Given the description of an element on the screen output the (x, y) to click on. 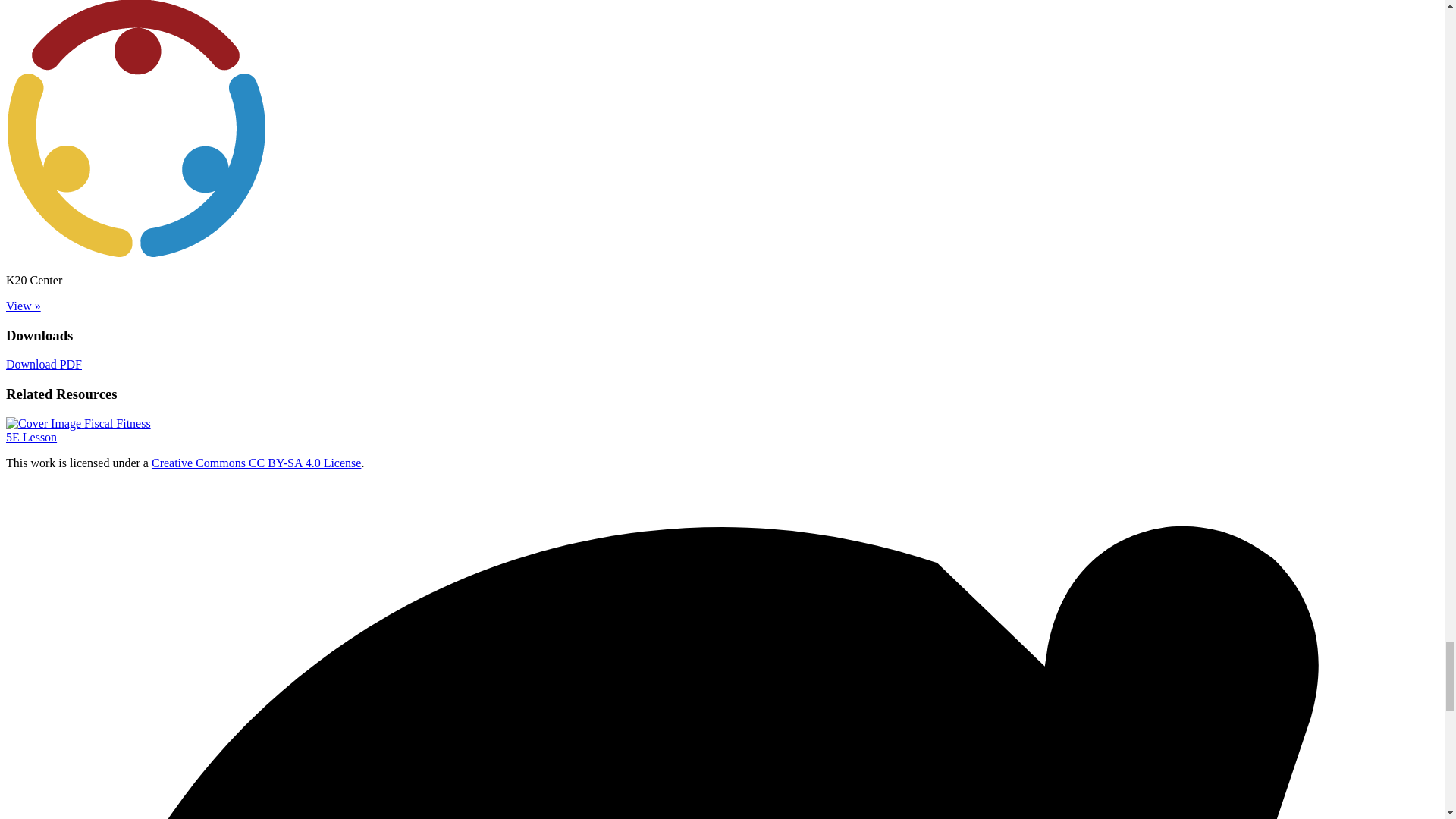
Creative Commons CC BY-SA 4.0 License (78, 180)
Download PDF (256, 212)
